Given the description of an element on the screen output the (x, y) to click on. 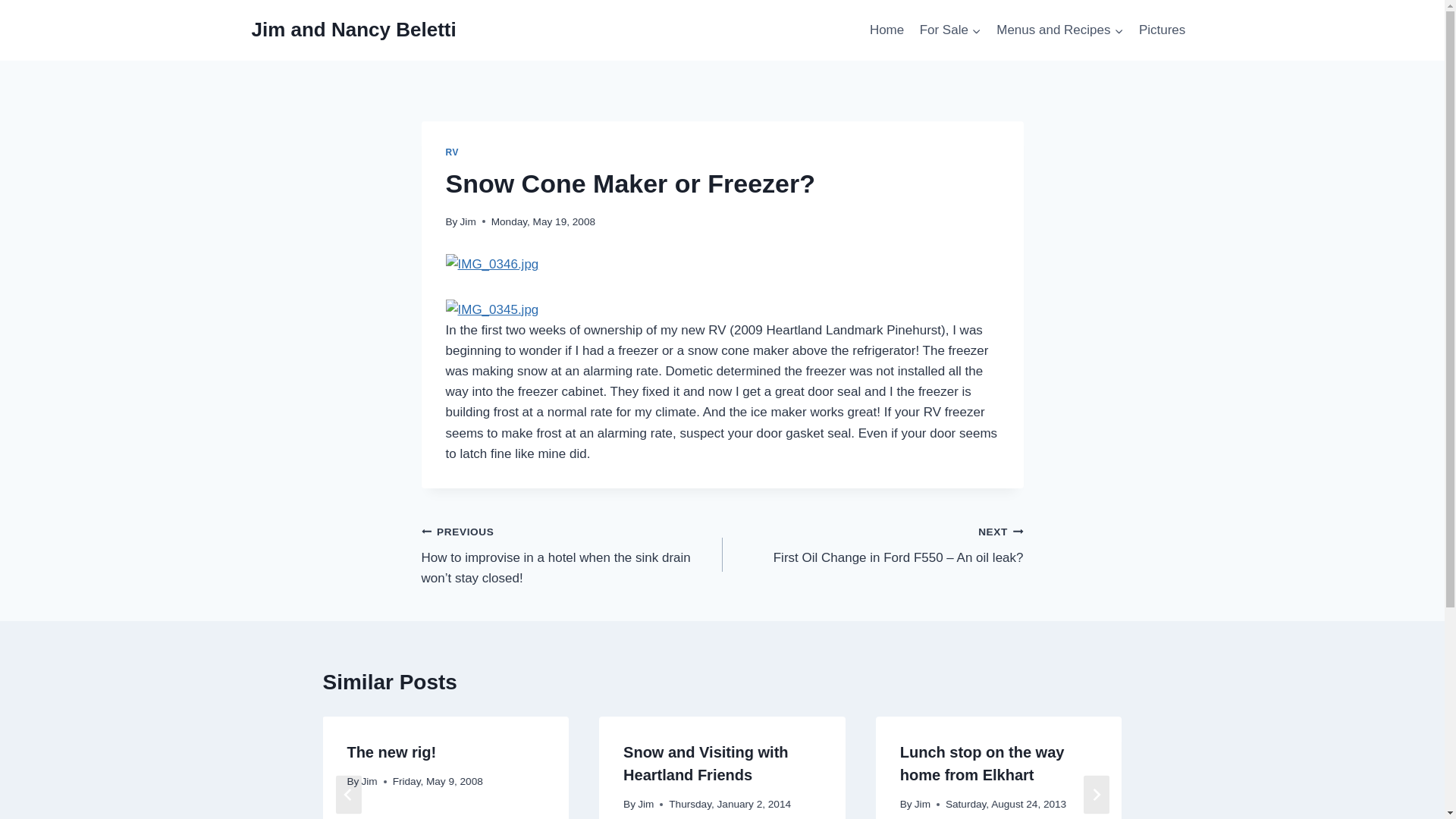
Home (886, 30)
Jim and Nancy Beletti (354, 29)
For Sale (949, 30)
Menus and Recipes (1059, 30)
